Given the description of an element on the screen output the (x, y) to click on. 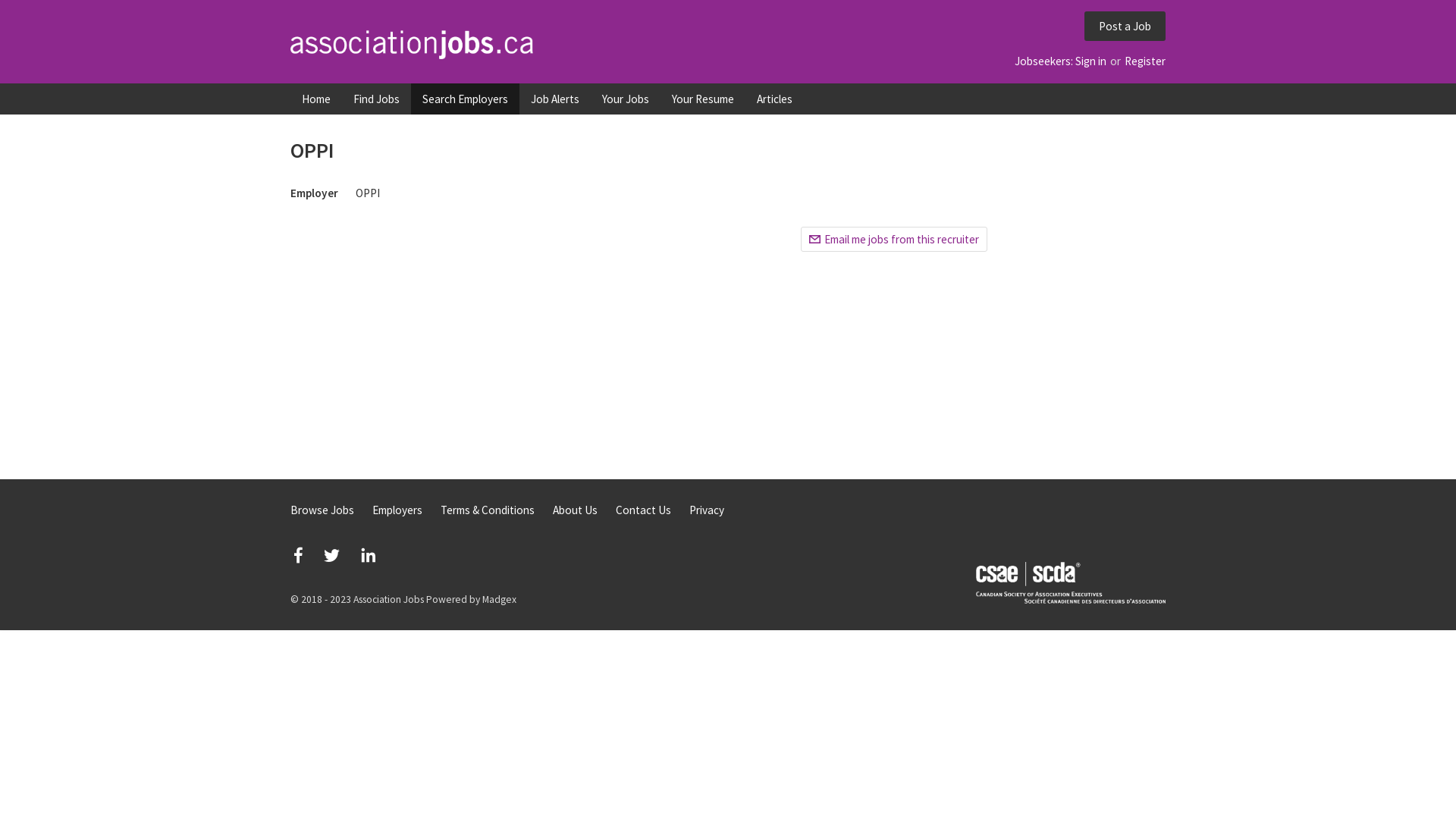
Job Alerts Element type: text (554, 98)
Your Resume Element type: text (702, 98)
Home Element type: text (316, 98)
Email me jobs from this recruiter Element type: text (893, 238)
Privacy Element type: text (706, 509)
Register Element type: text (1144, 60)
Find Jobs Element type: text (376, 98)
Browse Jobs Element type: text (322, 509)
Your Jobs Element type: text (625, 98)
About Us Element type: text (574, 509)
Terms & Conditions Element type: text (487, 509)
Contact Us Element type: text (643, 509)
Post a Job Element type: text (1124, 25)
Employers Element type: text (397, 509)
Search Employers Element type: text (465, 98)
Jobseekers: Sign in Element type: text (1060, 60)
Articles Element type: text (774, 98)
